Given the description of an element on the screen output the (x, y) to click on. 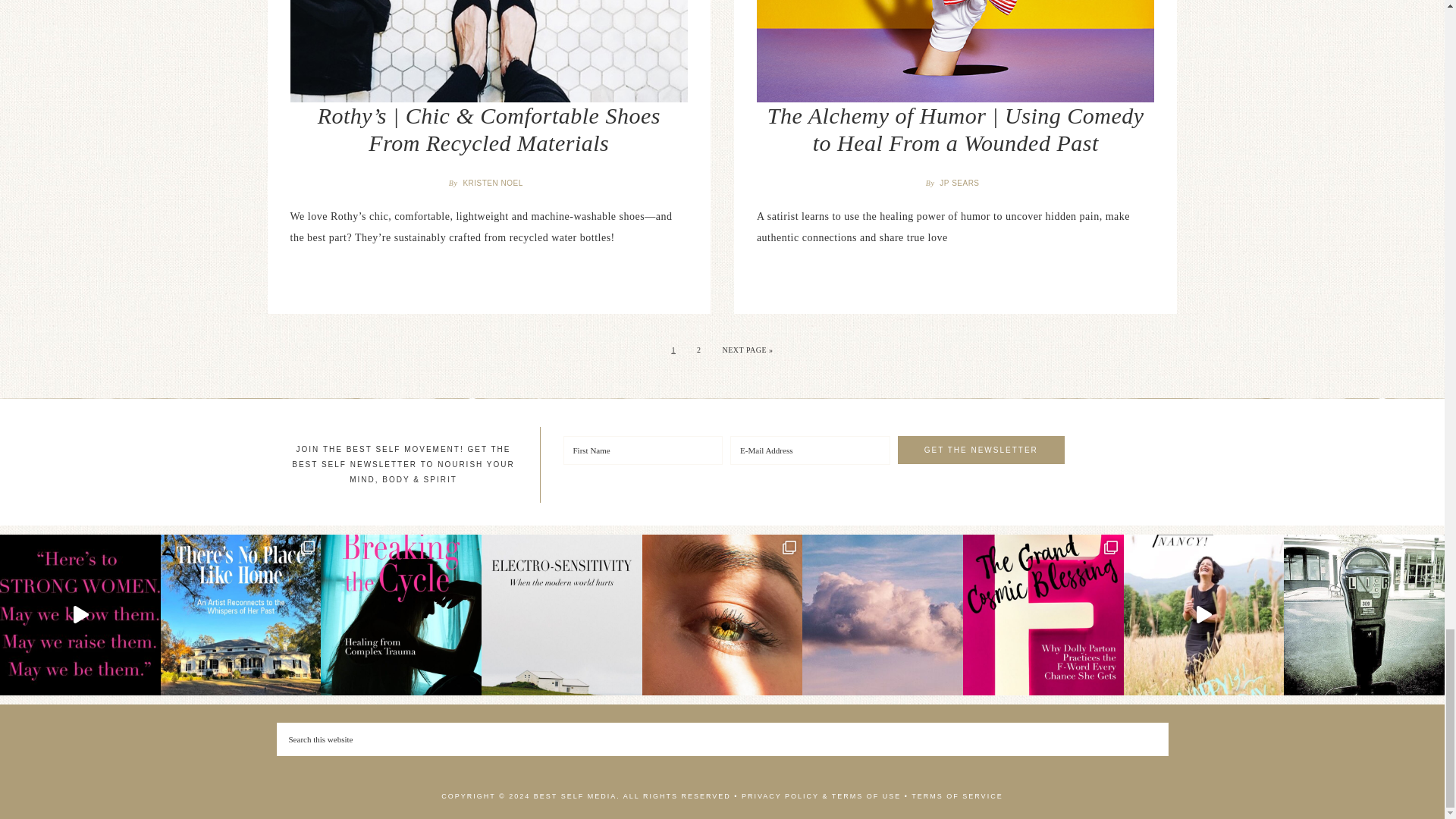
GET THE NEWSLETTER (981, 449)
